Given the description of an element on the screen output the (x, y) to click on. 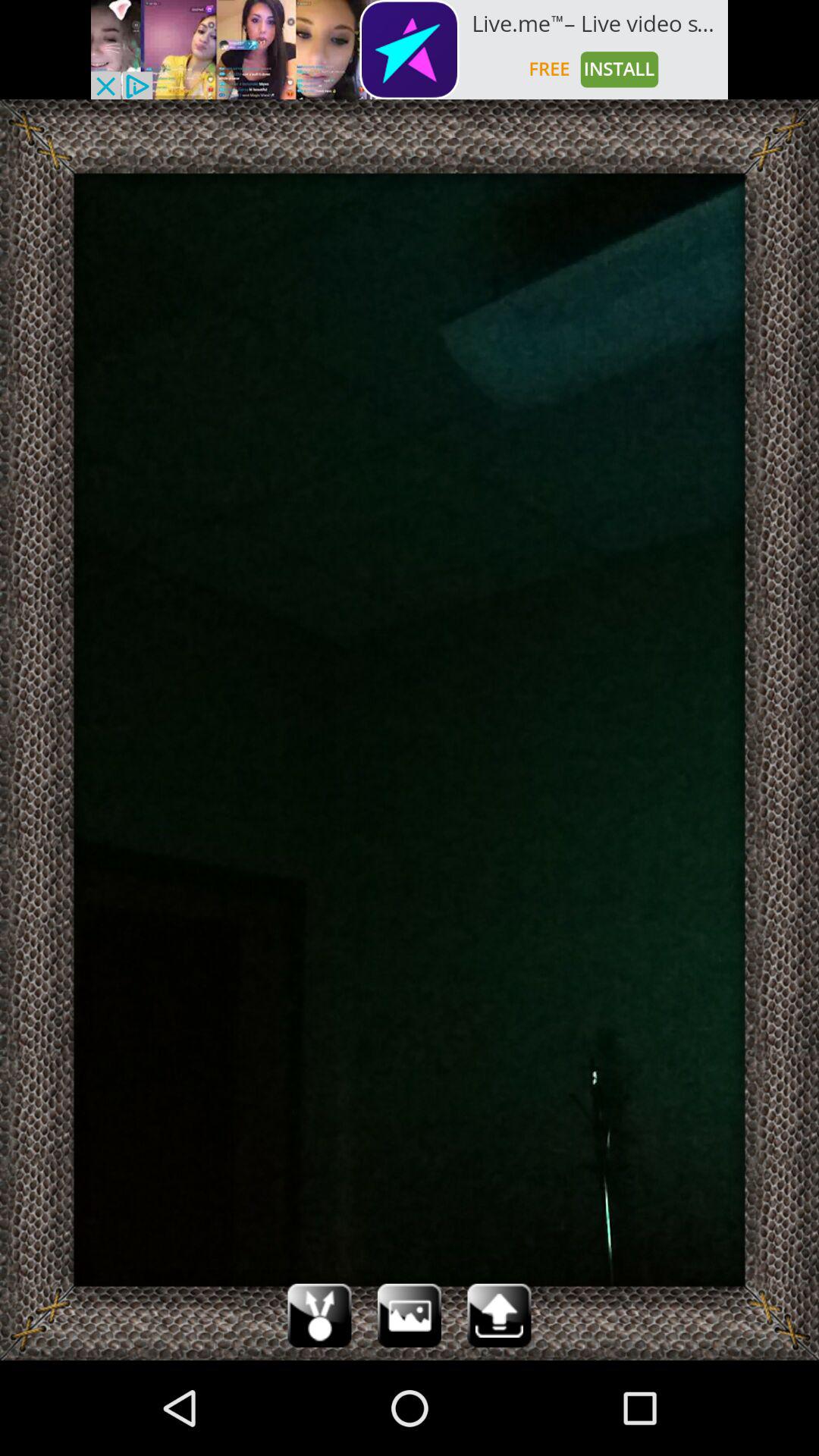
share selection (319, 1315)
